Given the description of an element on the screen output the (x, y) to click on. 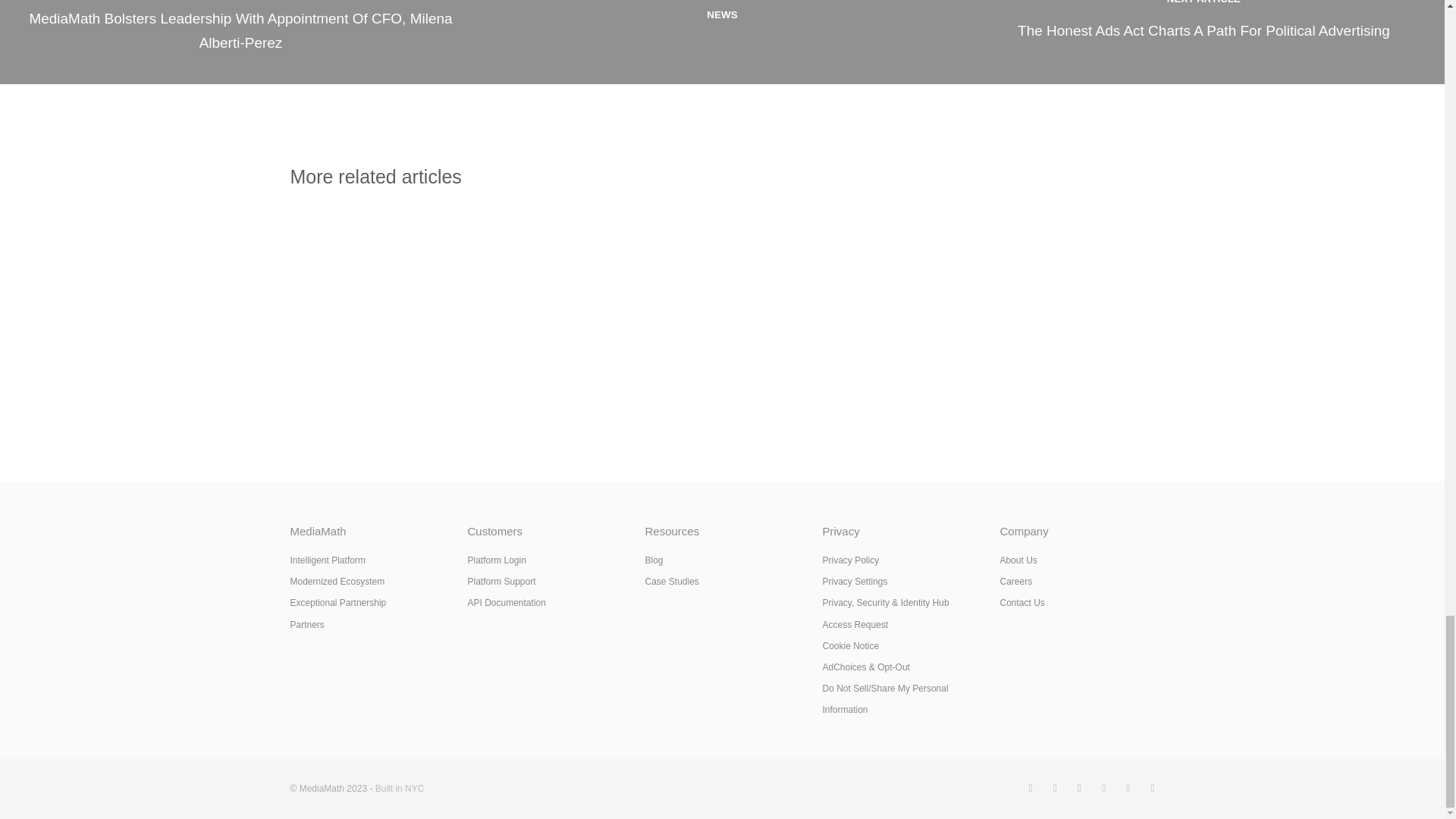
NEWS (721, 42)
